Given the description of an element on the screen output the (x, y) to click on. 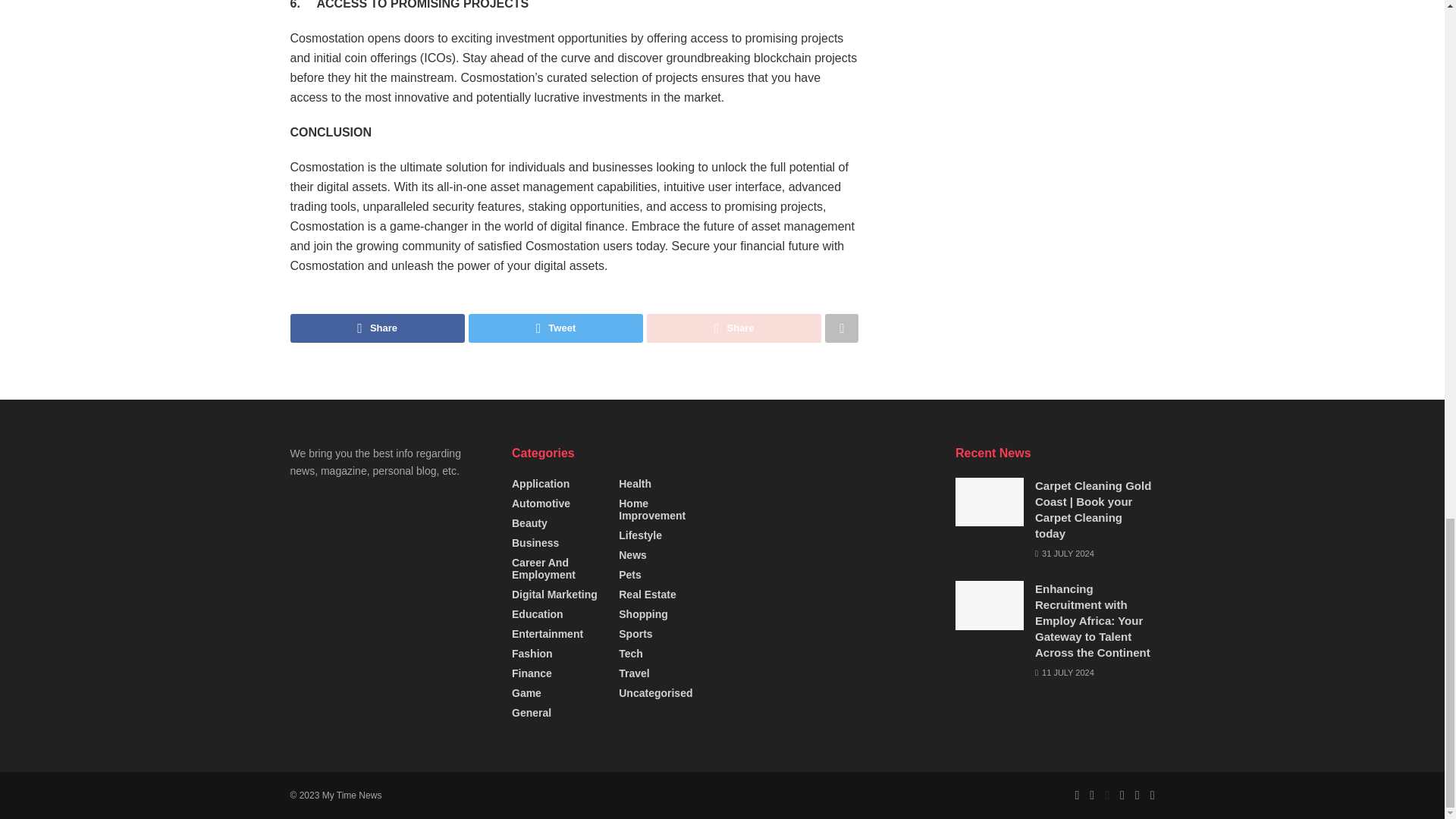
Share (376, 328)
Tweet (555, 328)
Share (733, 328)
